Given the description of an element on the screen output the (x, y) to click on. 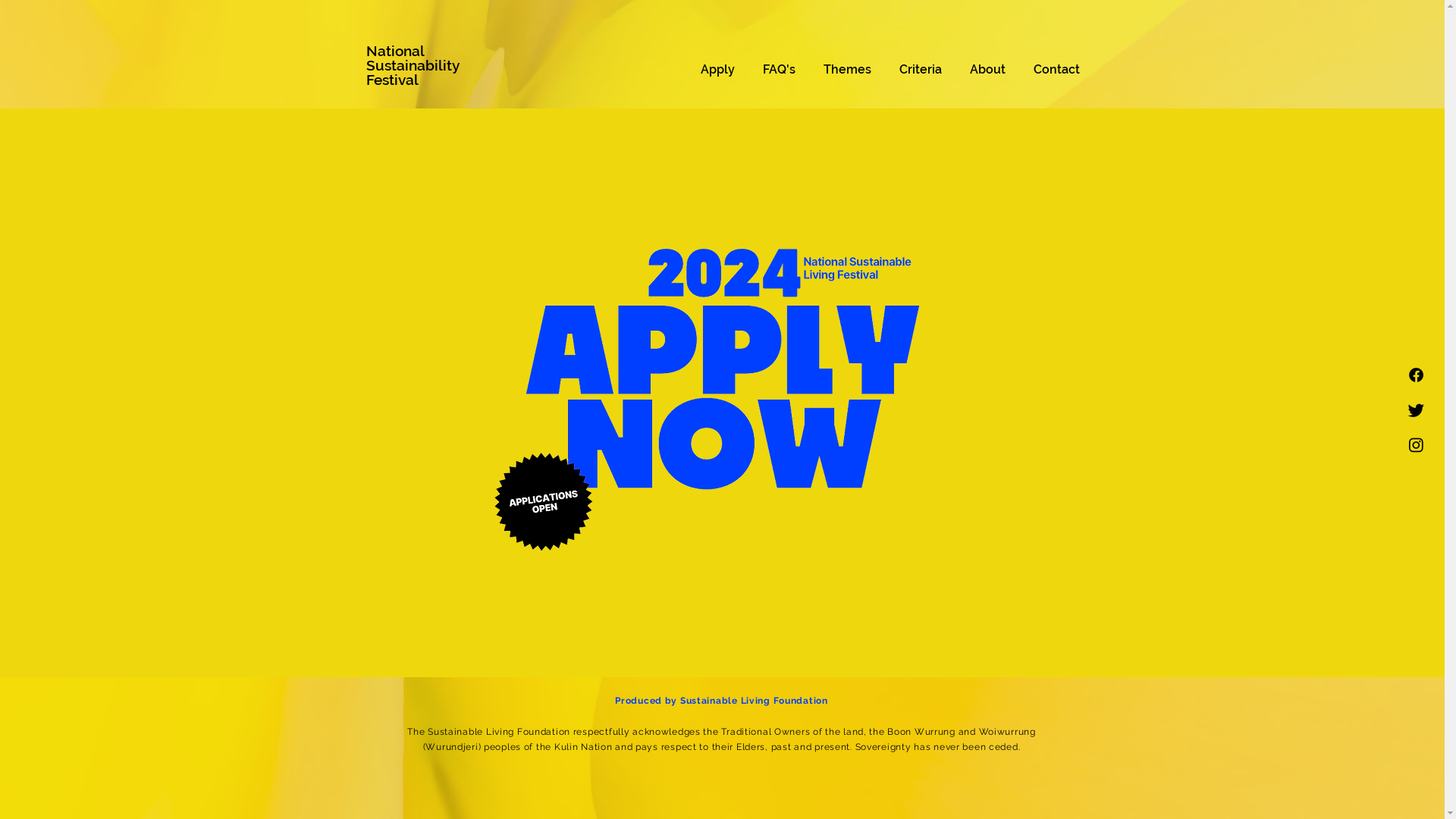
Contact Element type: text (1056, 69)
National
Sustainability
Festival Element type: text (411, 64)
FAQ's Element type: text (779, 69)
Themes Element type: text (847, 69)
Criteria Element type: text (920, 69)
About Element type: text (987, 69)
Apply Element type: text (718, 69)
